Given the description of an element on the screen output the (x, y) to click on. 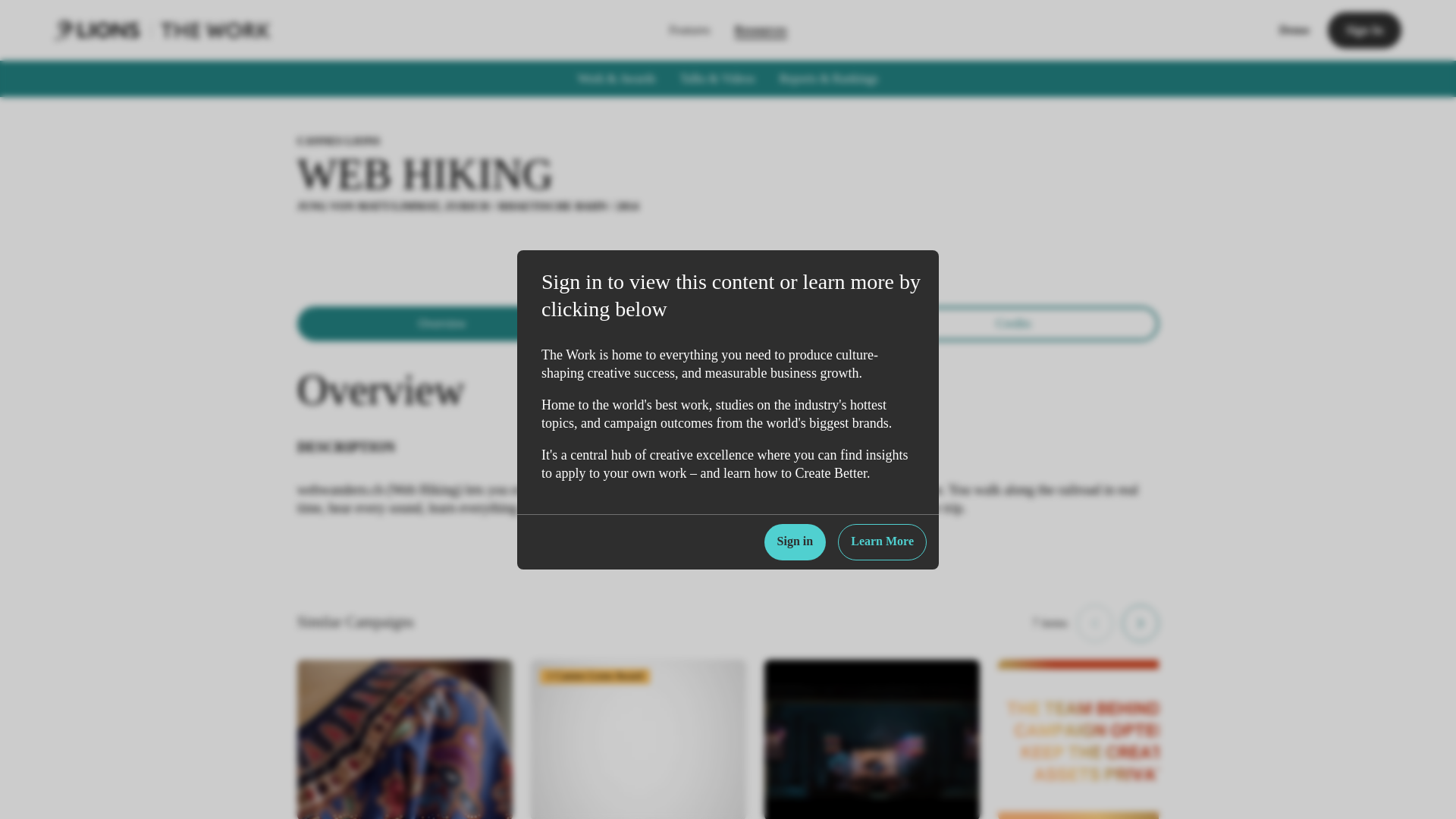
Go to previous carousel item (1095, 623)
Go to next carousel item (1140, 623)
1 Cannes Lions Award (638, 739)
